Given the description of an element on the screen output the (x, y) to click on. 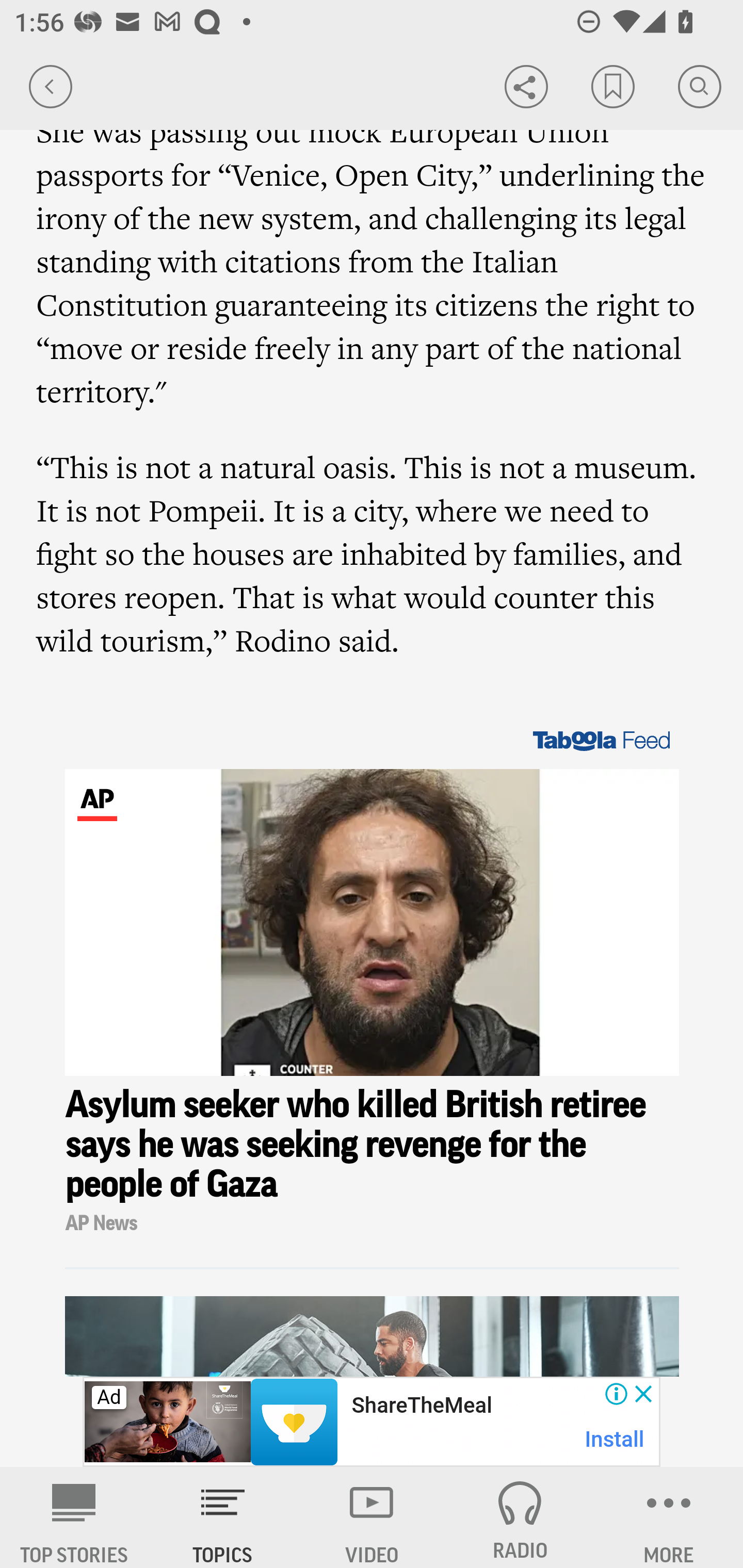
Image for Taboola Advertising Unit (372, 922)
ShareTheMeal (420, 1405)
Install (614, 1438)
AP News TOP STORIES (74, 1517)
TOPICS (222, 1517)
VIDEO (371, 1517)
RADIO (519, 1517)
MORE (668, 1517)
